Given the description of an element on the screen output the (x, y) to click on. 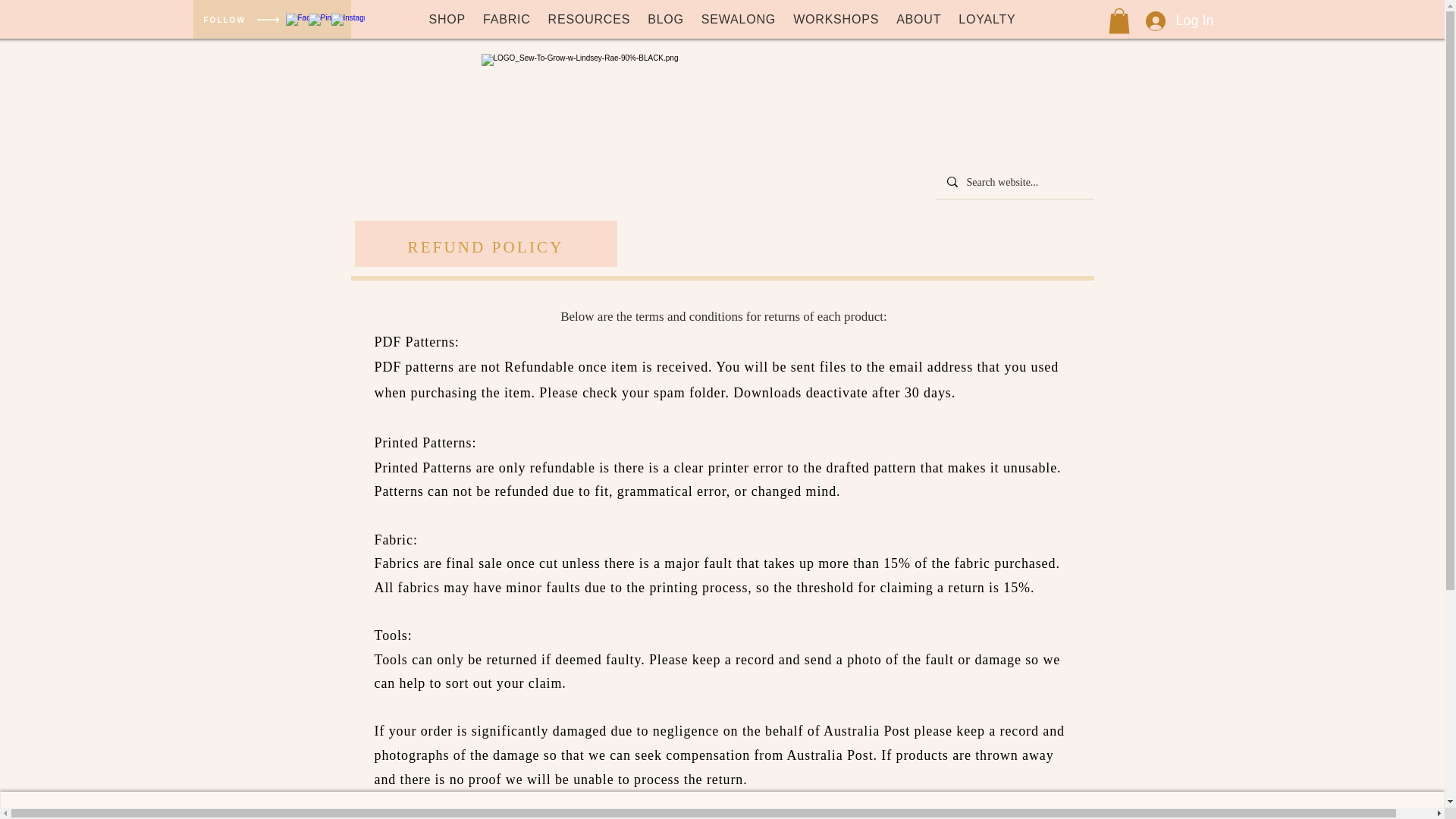
ABOUT (918, 19)
BLOG (666, 19)
LOYALTY (987, 19)
SEWALONG (738, 19)
SHOP (390, 817)
SHOP (446, 19)
FABRIC (507, 19)
Log In (1164, 20)
ABOUT (524, 817)
WORKSHOPS (836, 19)
